Given the description of an element on the screen output the (x, y) to click on. 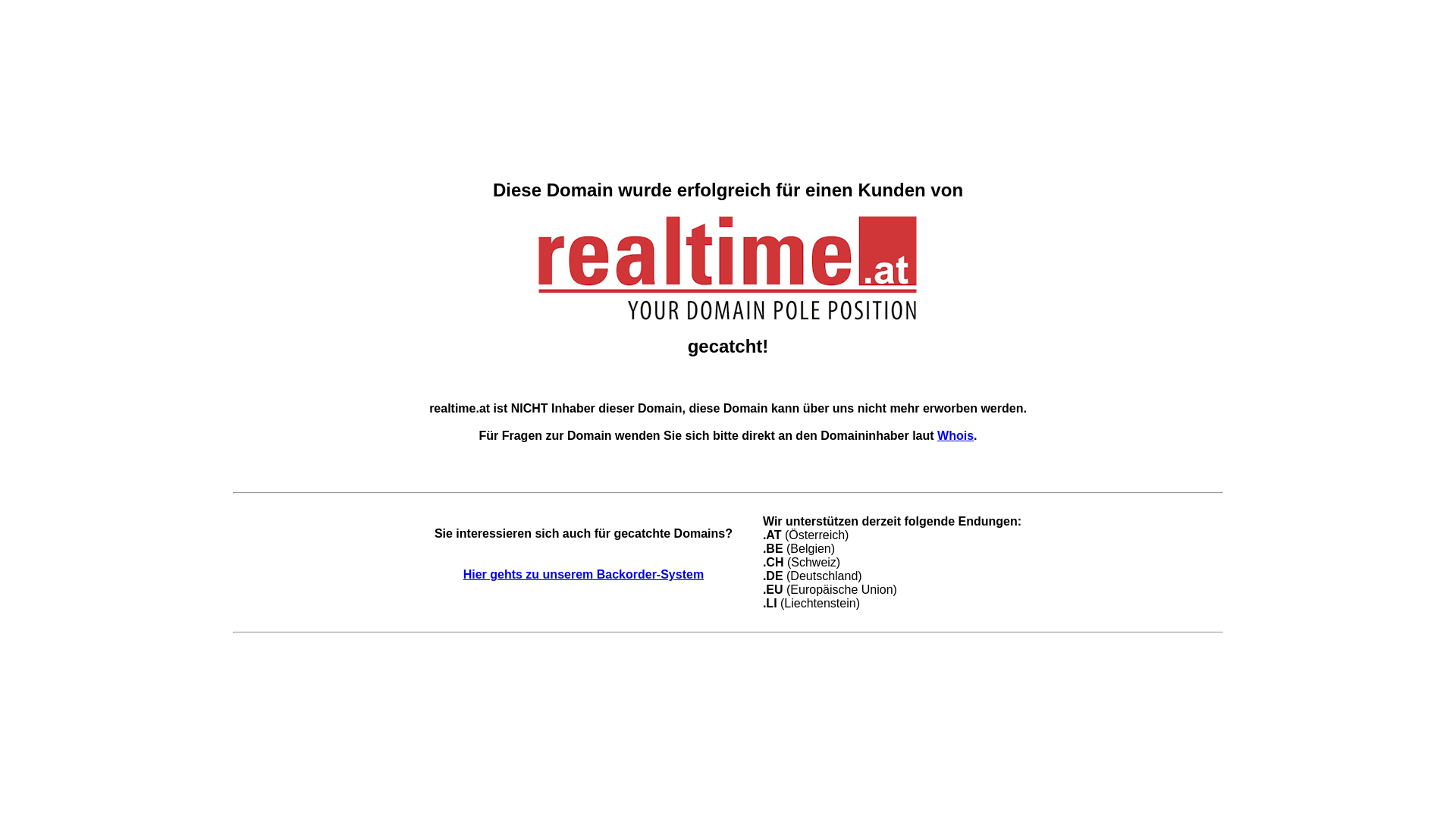
Hier gehts zu unserem Backorder-System Element type: text (583, 573)
Whois Element type: text (955, 435)
